Given the description of an element on the screen output the (x, y) to click on. 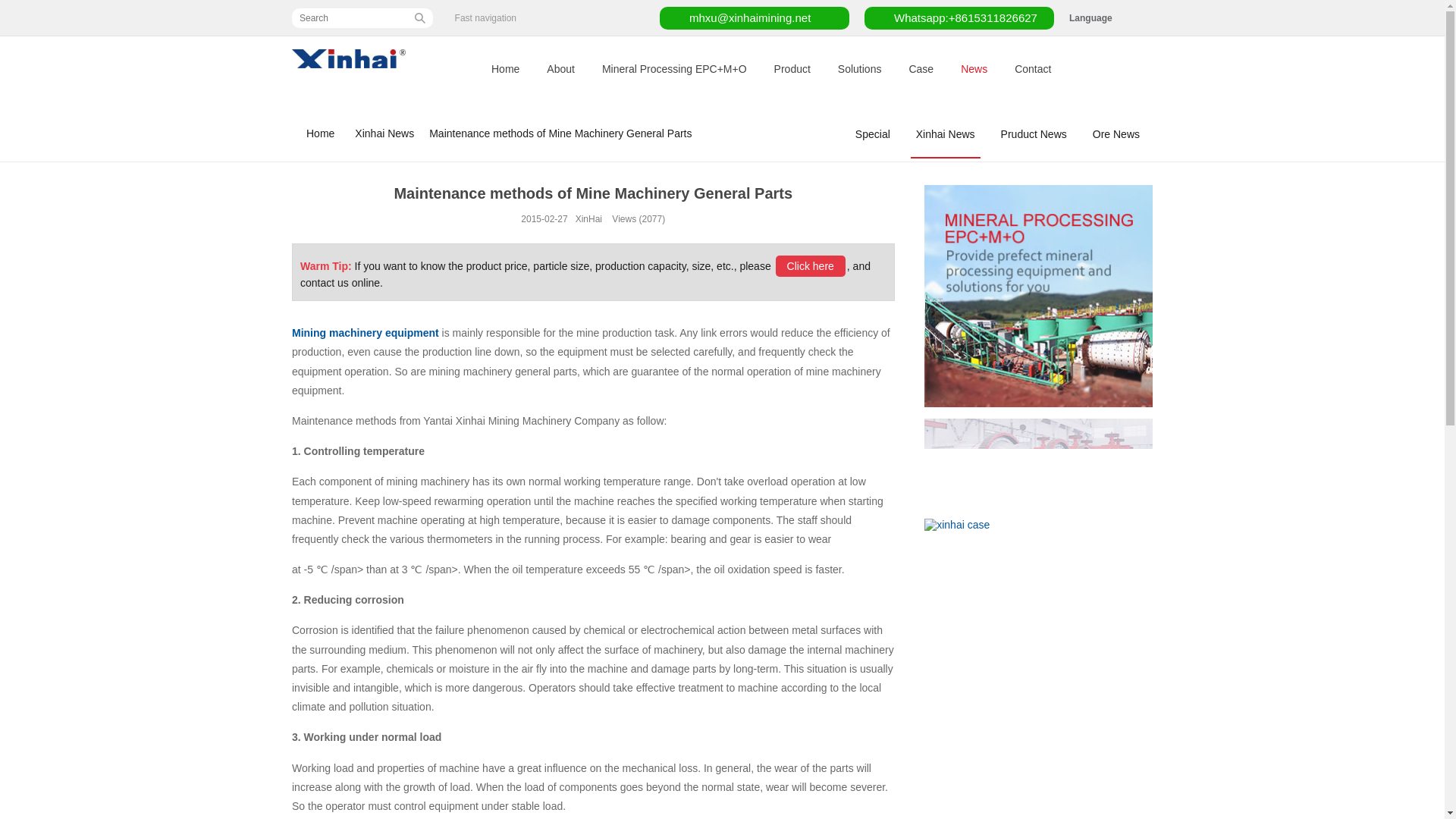
Online Service (810, 265)
right2 (1038, 462)
xinhai case (957, 524)
Product (792, 68)
right-about-epc (1038, 296)
